Given the description of an element on the screen output the (x, y) to click on. 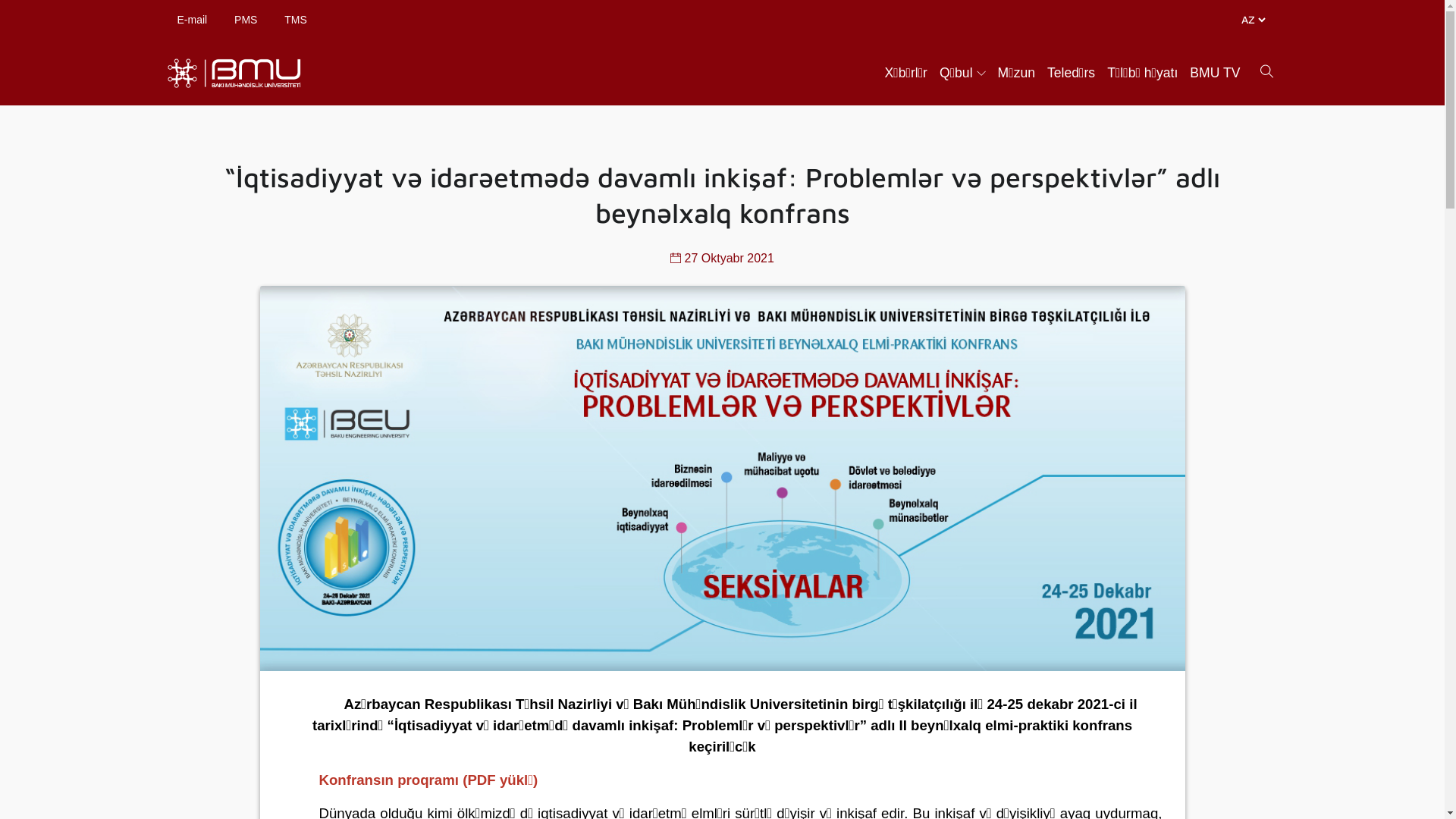
BMU TV Element type: text (1214, 72)
TMS Element type: text (295, 19)
PMS Element type: text (245, 19)
E-mail Element type: text (192, 19)
